Given the description of an element on the screen output the (x, y) to click on. 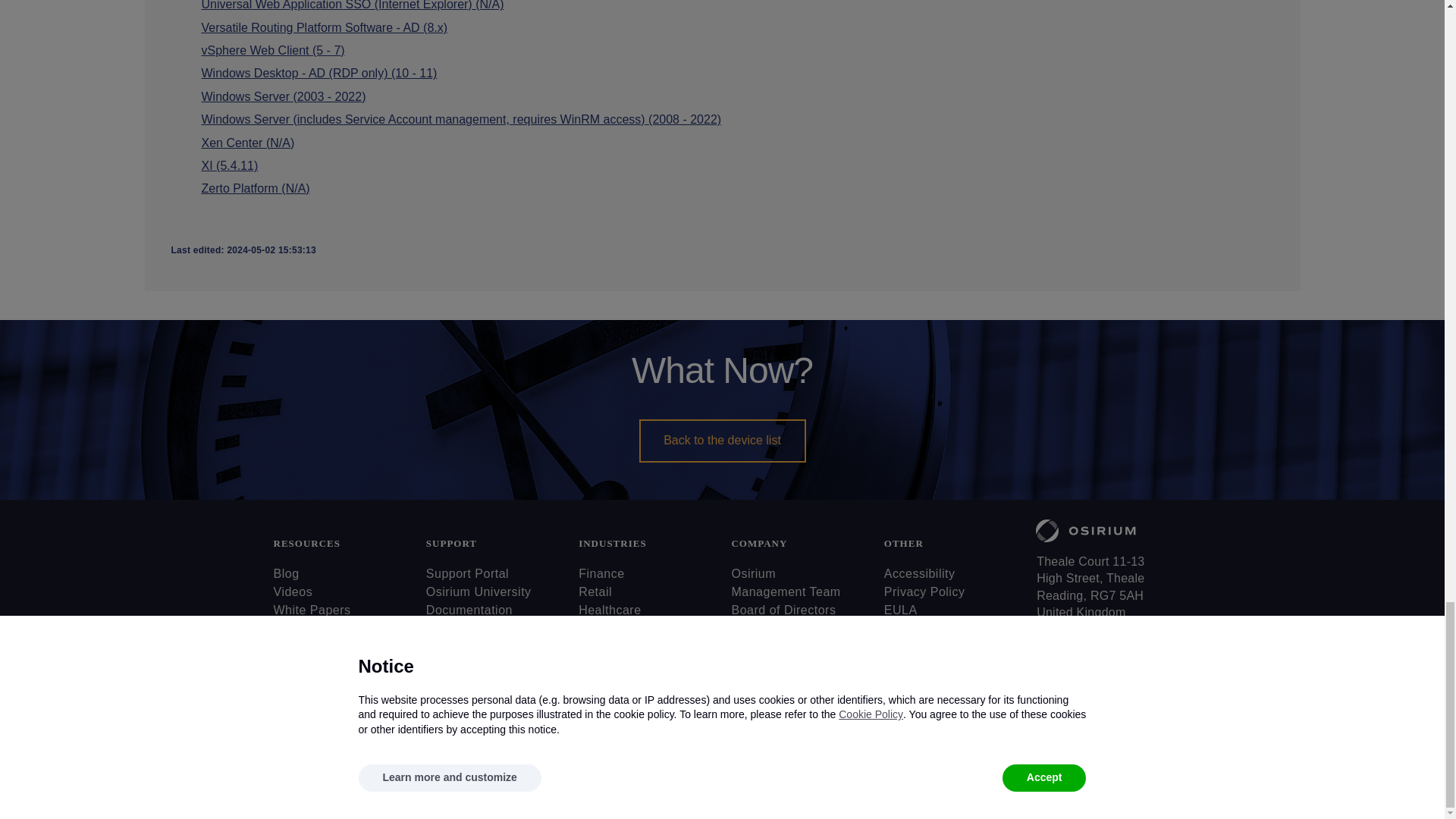
Back to the device list (722, 440)
